Given the description of an element on the screen output the (x, y) to click on. 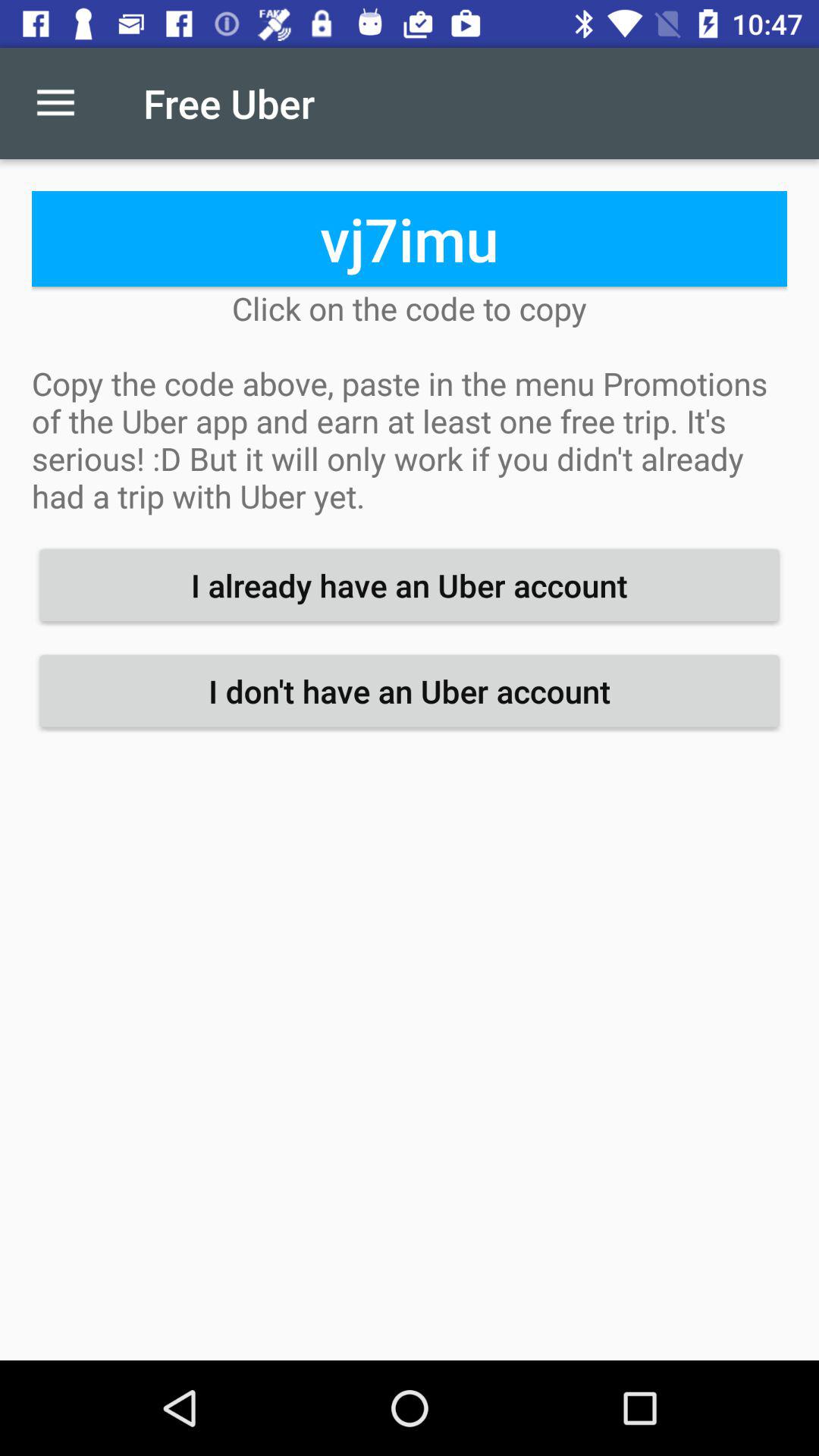
select the item above click on the icon (409, 238)
